Given the description of an element on the screen output the (x, y) to click on. 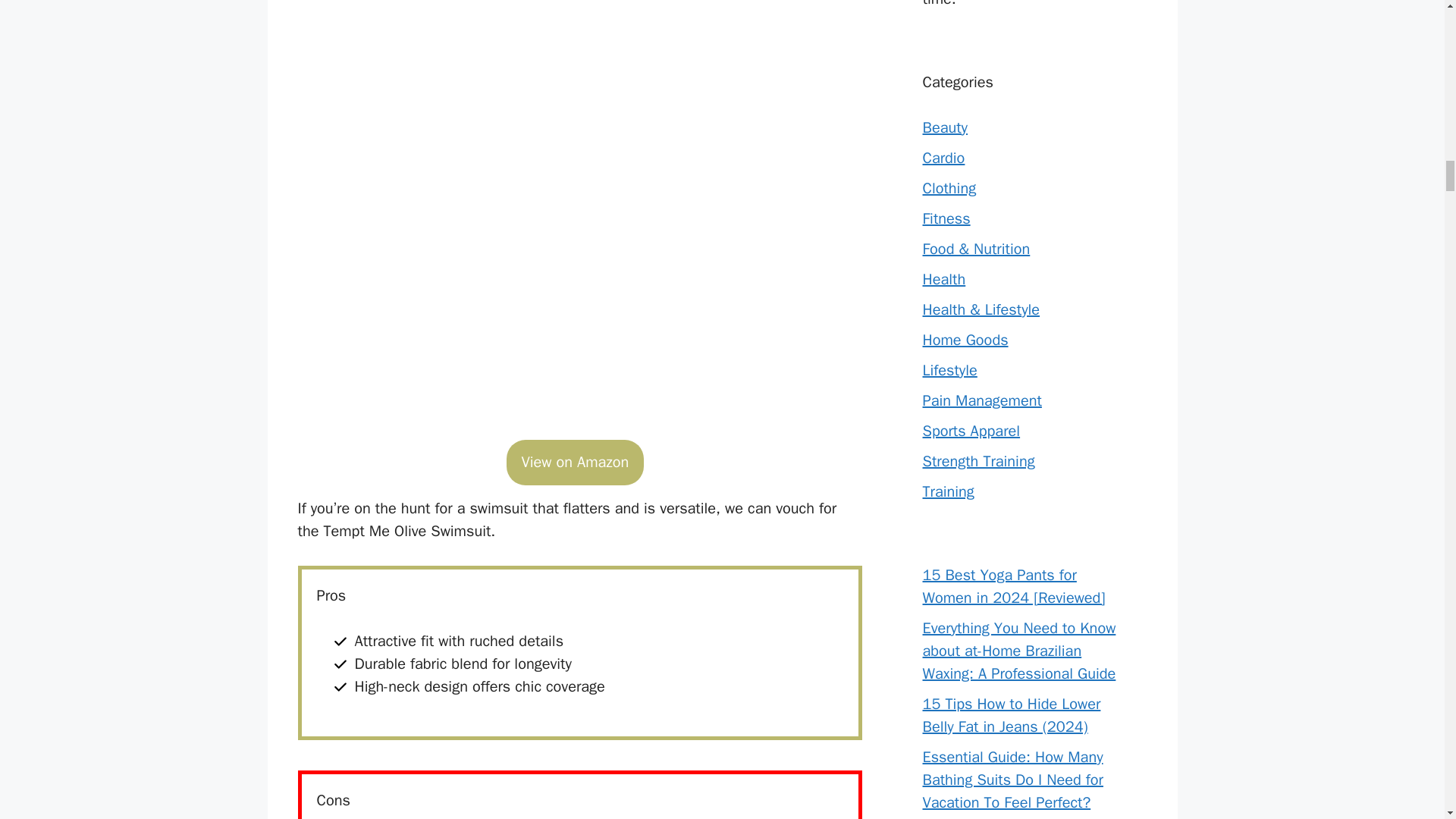
View on Amazon (575, 462)
